Given the description of an element on the screen output the (x, y) to click on. 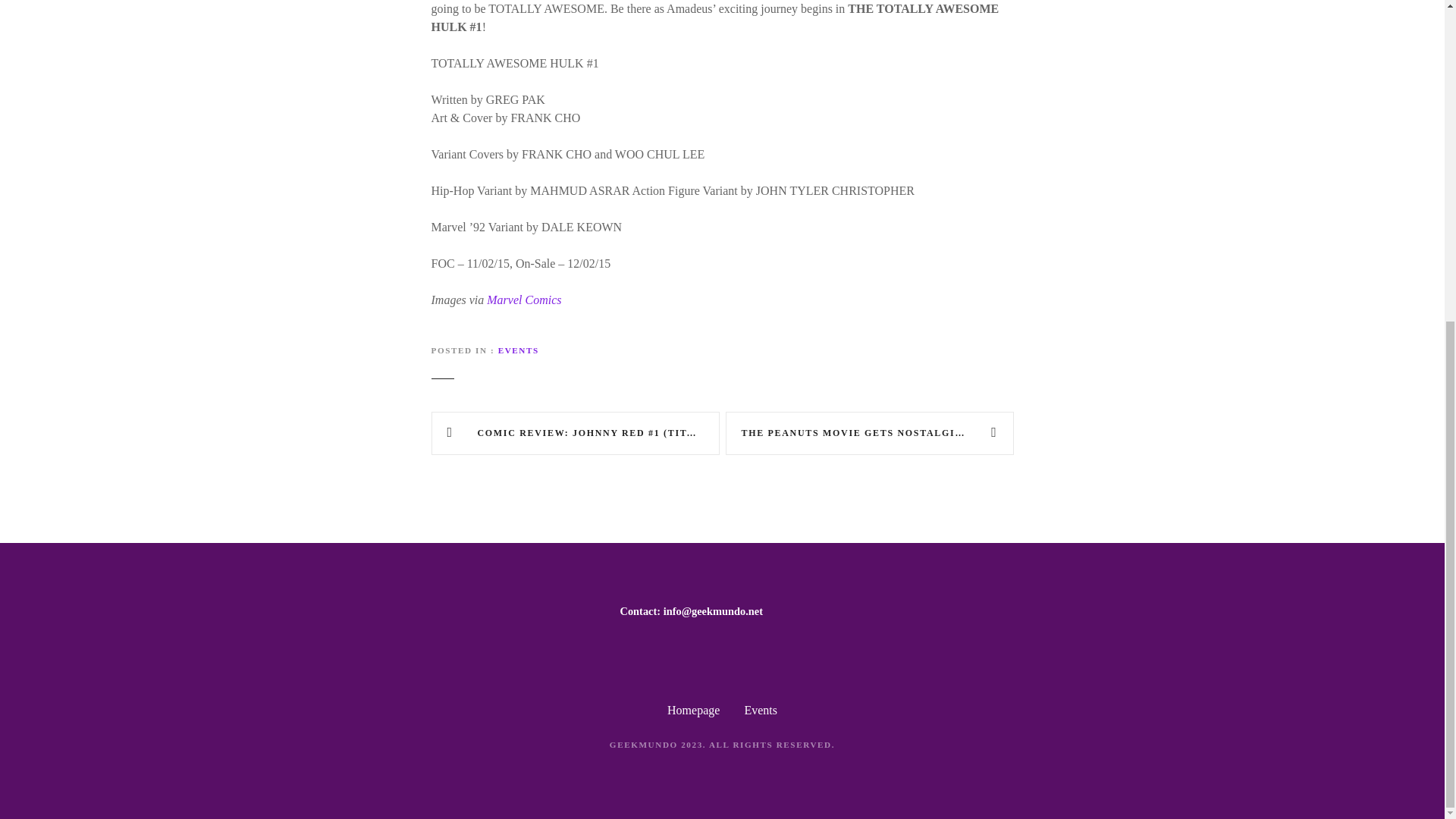
Marvel Comics (523, 299)
EVENTS (517, 349)
Events (760, 709)
Homepage (692, 709)
